Given the description of an element on the screen output the (x, y) to click on. 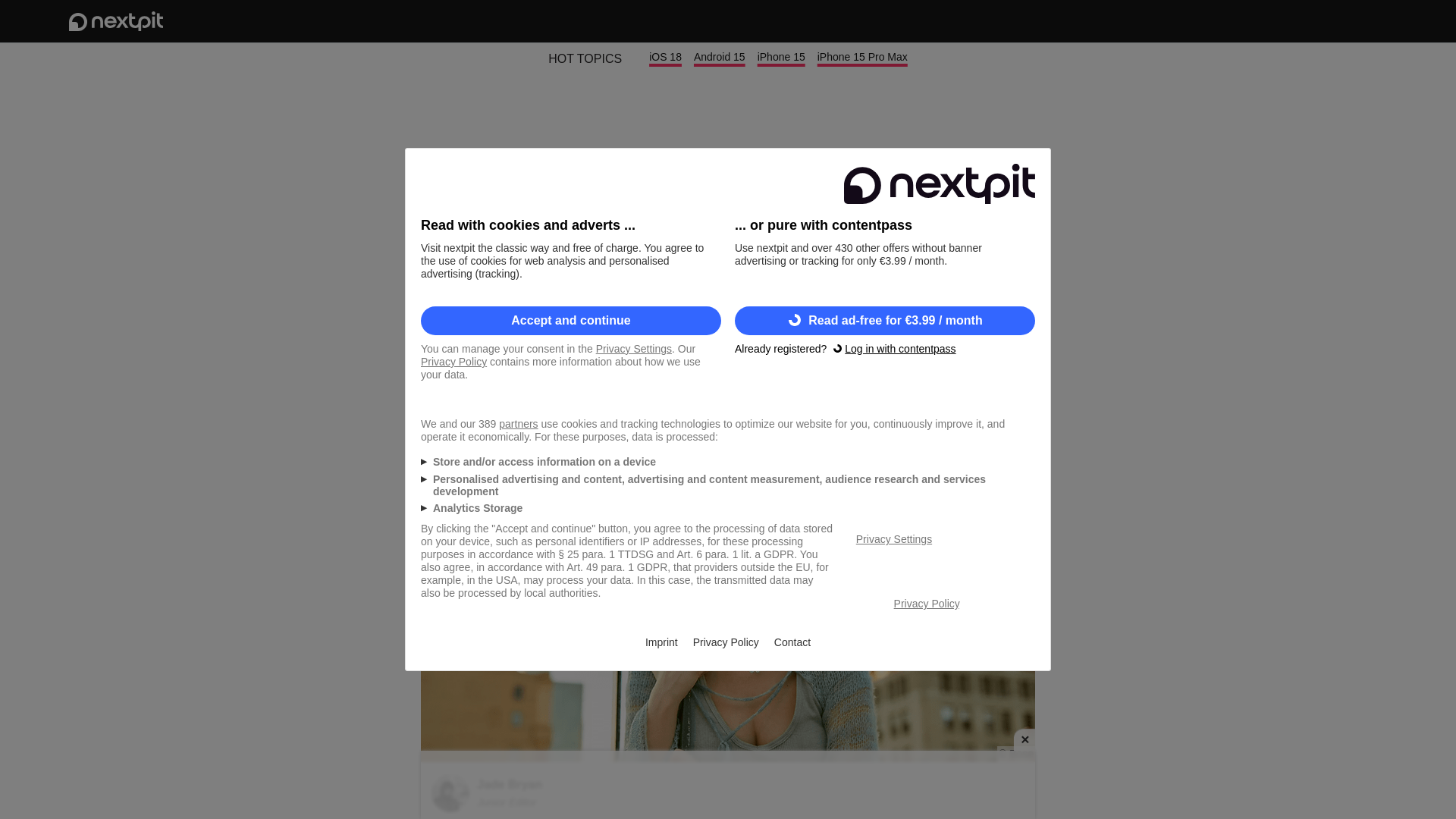
2 min read (452, 396)
Feb 18, 2024, 7:00:00 PM (981, 397)
To the nextpit homepage (115, 21)
Login (1325, 21)
